Given the description of an element on the screen output the (x, y) to click on. 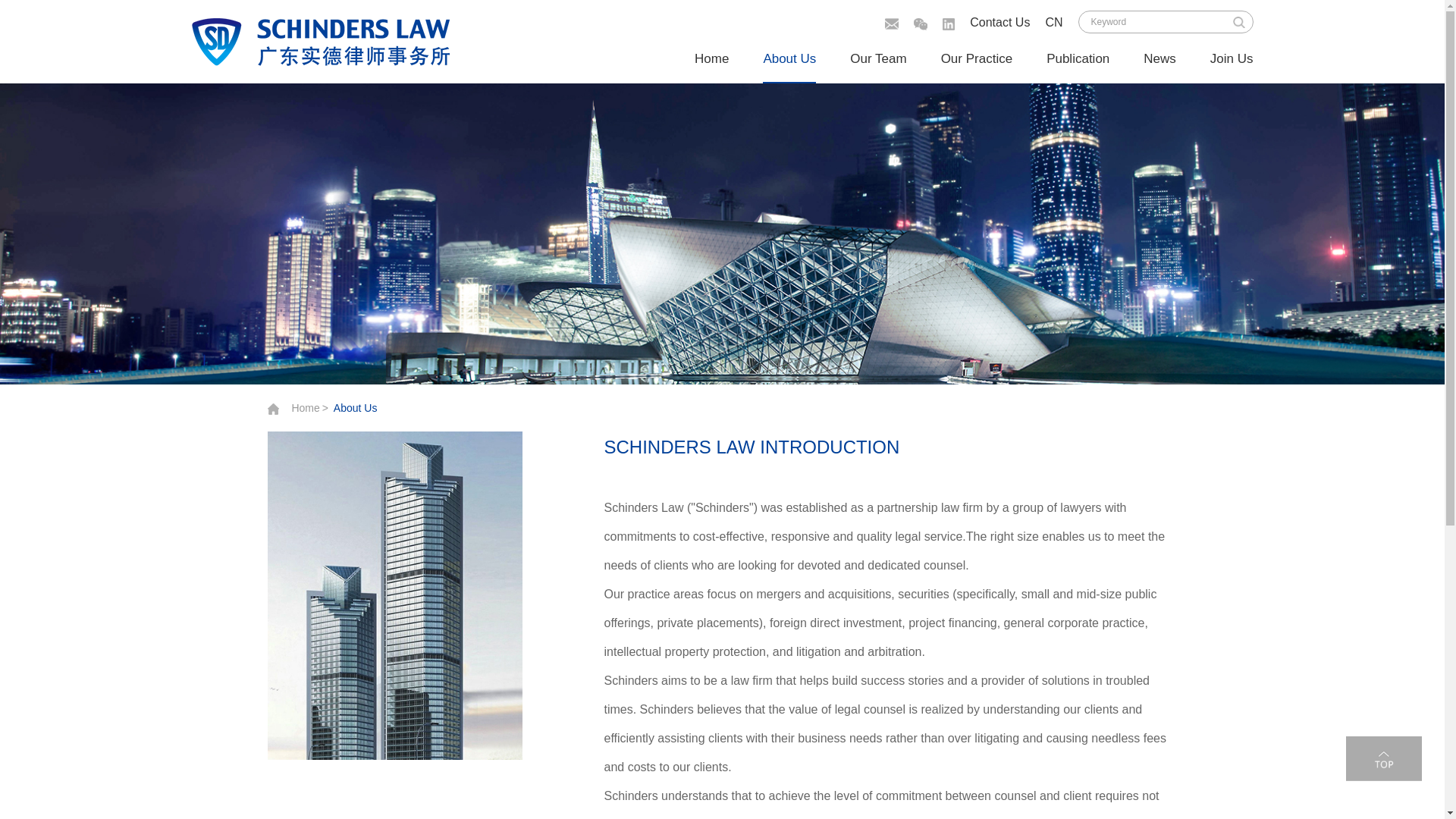
Home (304, 407)
Publication (1077, 58)
About Us (788, 59)
Our Team (877, 58)
Contact Us (999, 22)
Join Us (1231, 58)
About Us (355, 407)
CN (1053, 21)
Our Practice (975, 58)
